Given the description of an element on the screen output the (x, y) to click on. 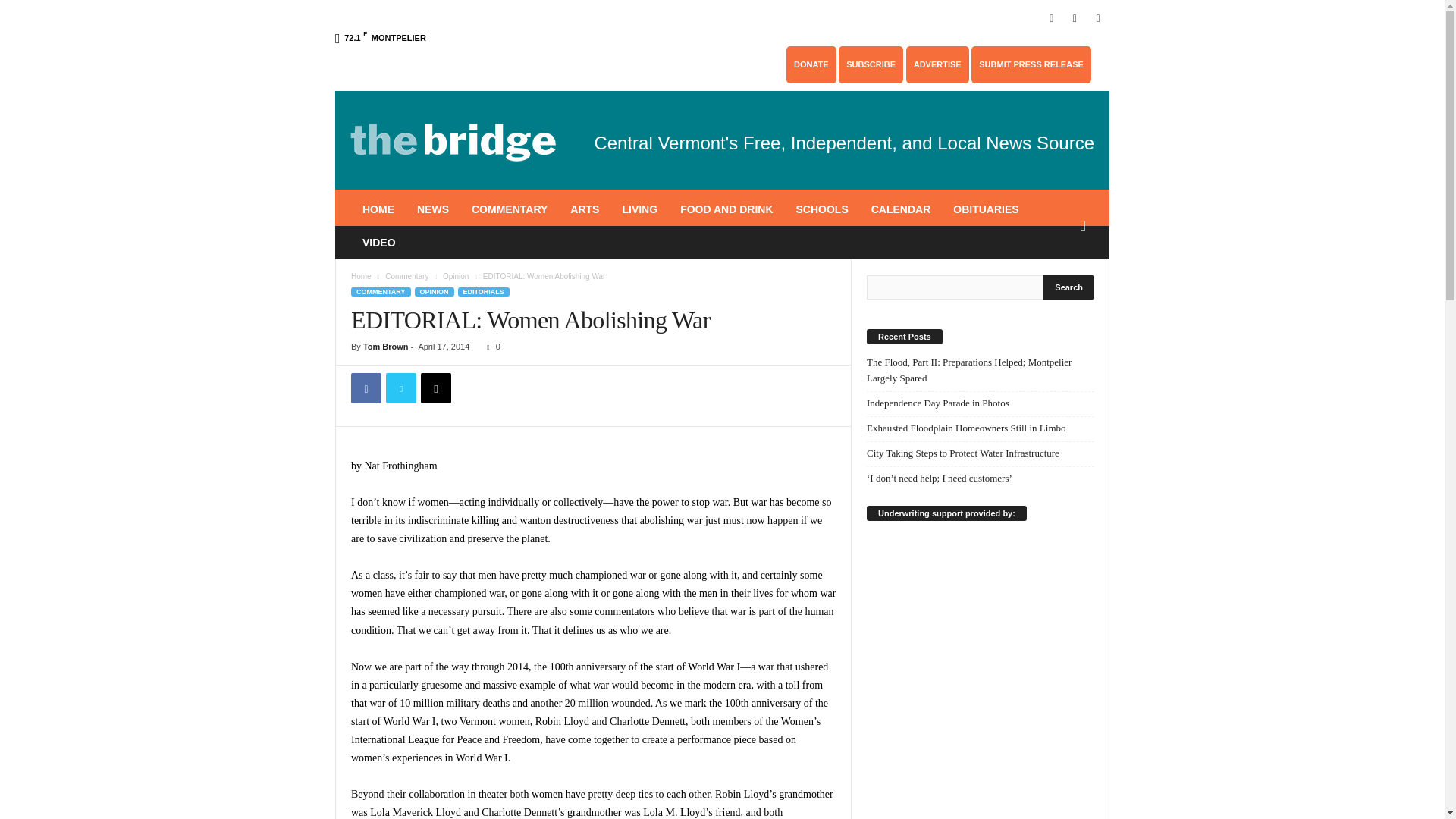
DONATE (810, 63)
FOOD AND DRINK (726, 209)
CALENDAR (901, 209)
The Montpelier Bridge (453, 140)
NEWS (433, 209)
LIVING (639, 209)
COMMENTARY (509, 209)
SCHOOLS (821, 209)
Search (1068, 287)
SUBMIT PRESS RELEASE (1030, 63)
ARTS (584, 209)
SUBSCRIBE (870, 63)
View all posts in Commentary (406, 275)
ADVERTISE (937, 63)
View all posts in Opinion (455, 275)
